Given the description of an element on the screen output the (x, y) to click on. 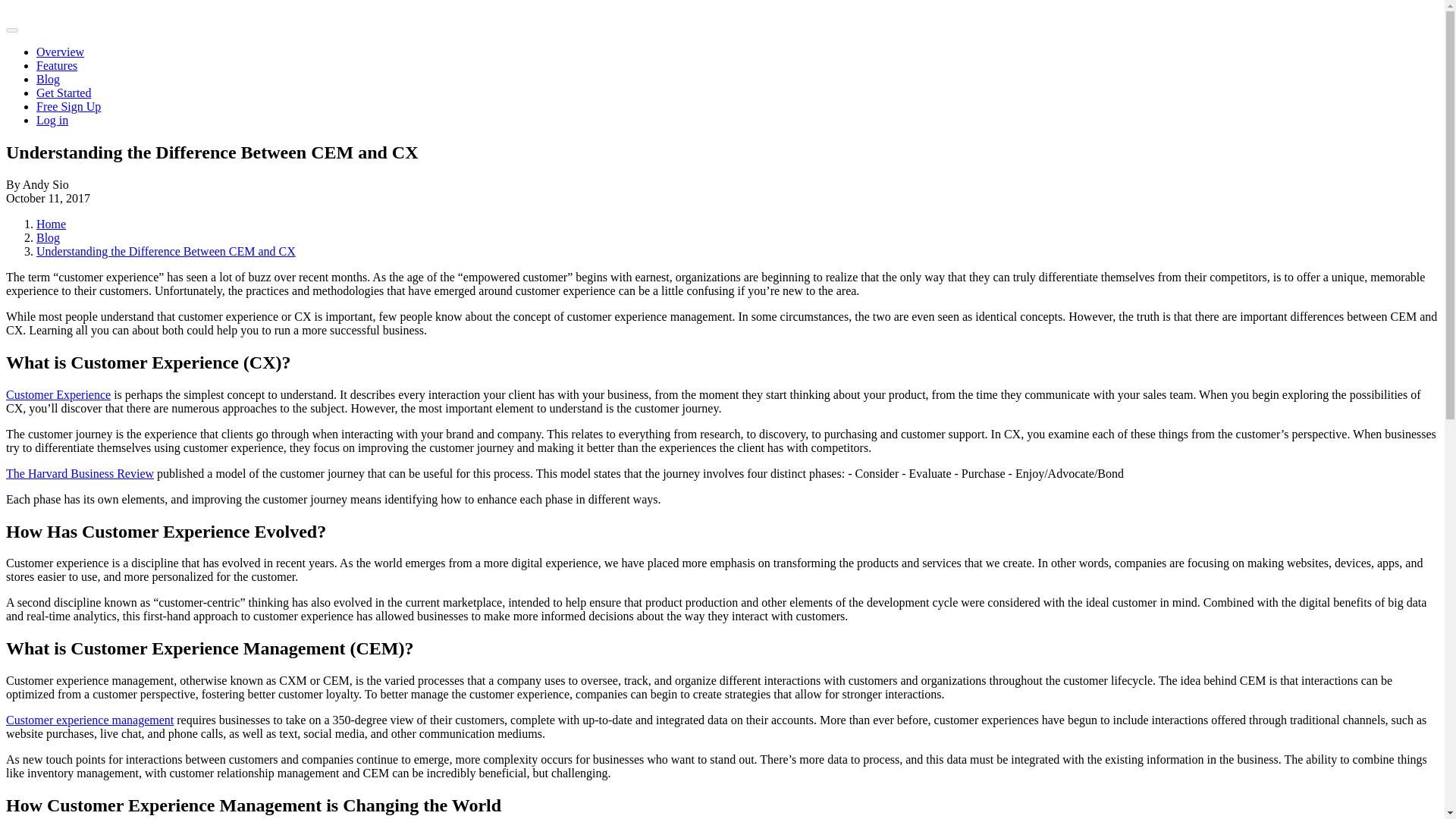
Get Started (63, 92)
Home (50, 223)
The Harvard Business Review (79, 472)
Blog (47, 237)
Blog (47, 78)
Features (56, 65)
Understanding the Difference Between CEM and CX (165, 250)
Free Sign Up (68, 106)
Customer experience management (89, 719)
Customer Experience (57, 394)
